Given the description of an element on the screen output the (x, y) to click on. 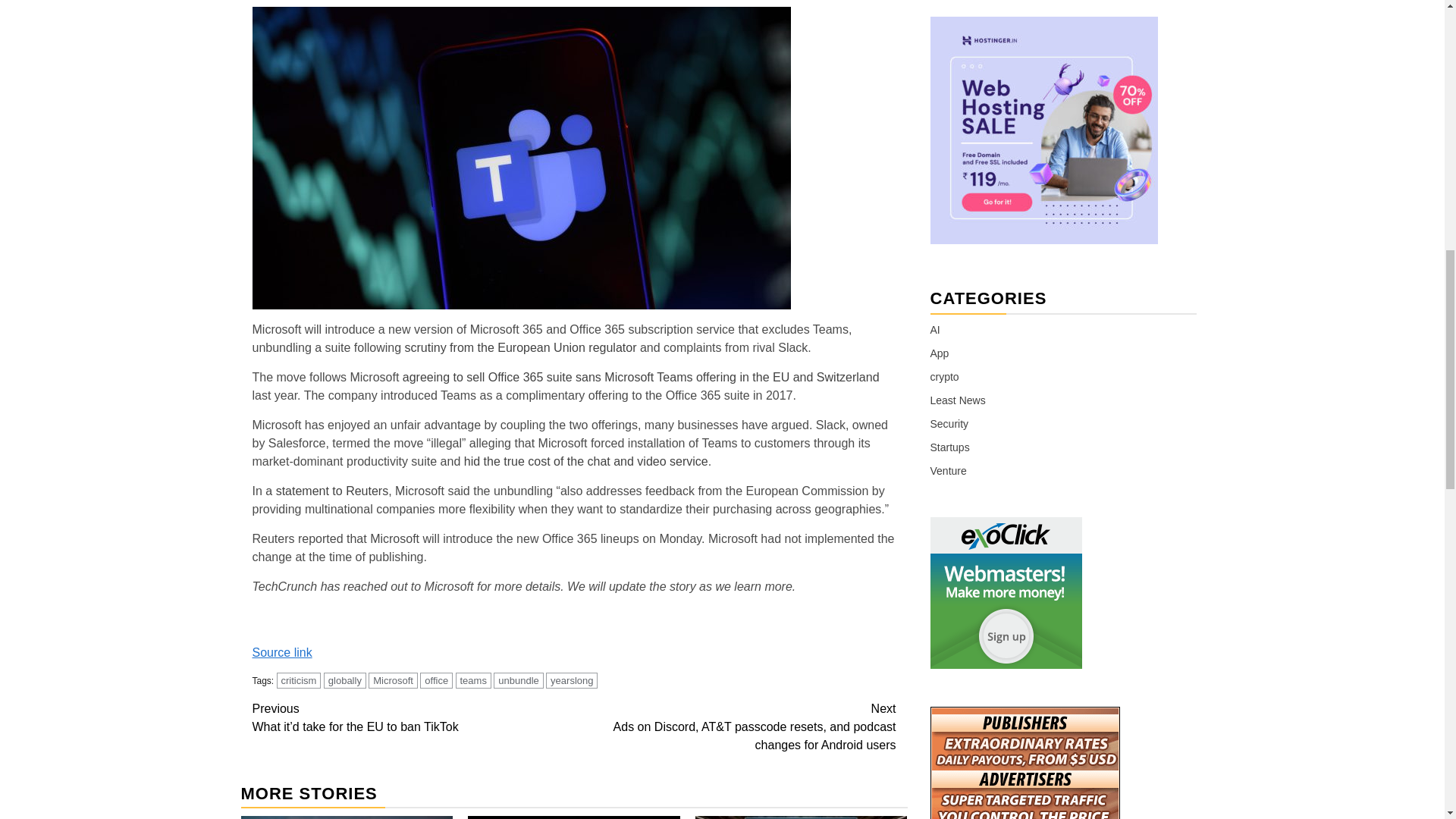
statement to Reuters (332, 490)
hid the true cost of the chat and video service (585, 461)
Source link (281, 652)
Microsoft (392, 680)
criticism (298, 680)
globally (344, 680)
unbundle (518, 680)
scrutiny from the European Union regulator (520, 347)
teams (472, 680)
